Given the description of an element on the screen output the (x, y) to click on. 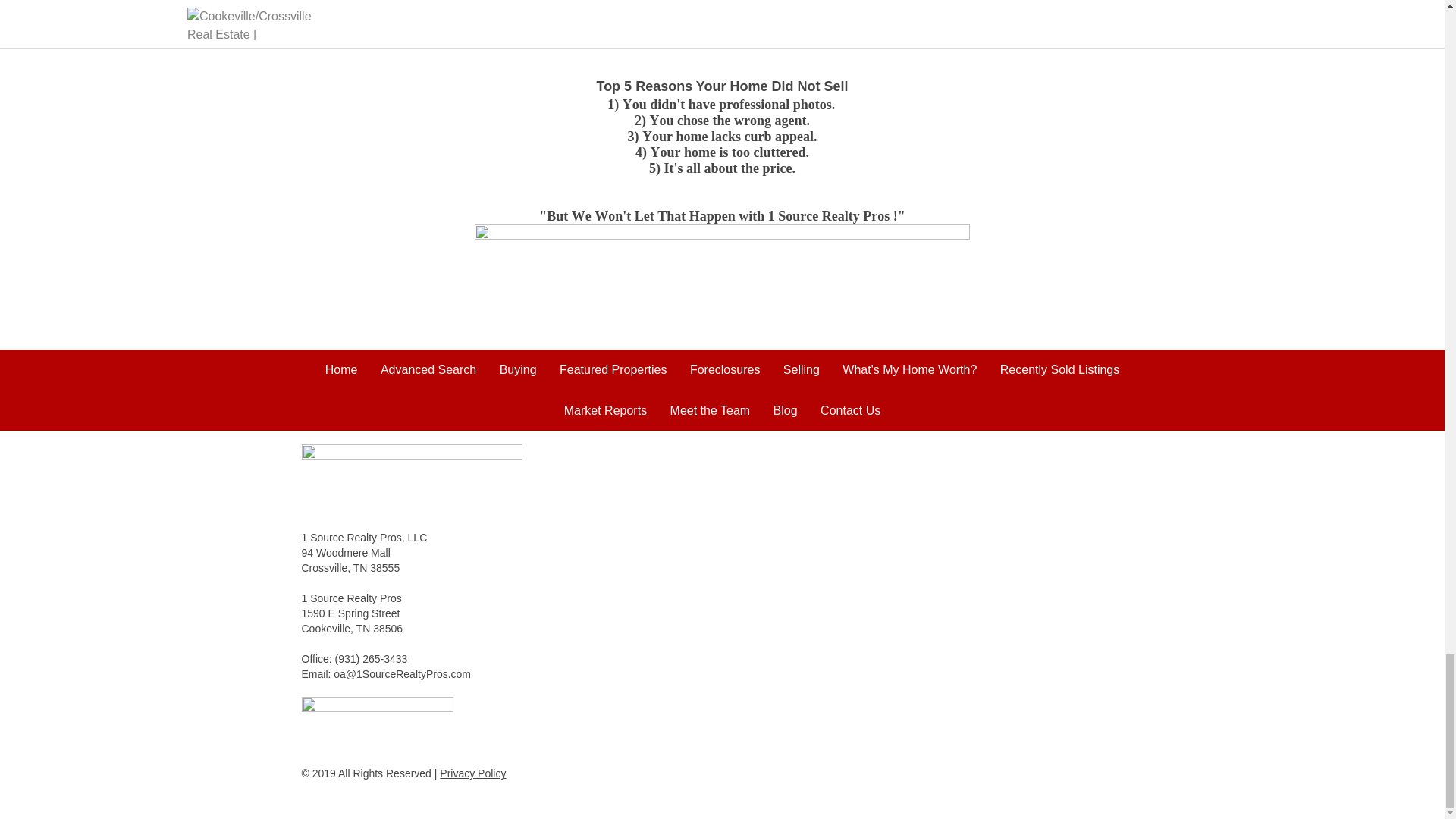
Advanced Search (428, 369)
Meet the Team (710, 410)
What's My Home Worth? (909, 369)
Contact Us (850, 410)
Featured Properties (612, 369)
Privacy Policy (472, 773)
Blog (785, 410)
Home (341, 369)
Foreclosures (725, 369)
Recently Sold Listings (1059, 369)
Selling (801, 369)
Market Reports (605, 410)
Buying (518, 369)
